Given the description of an element on the screen output the (x, y) to click on. 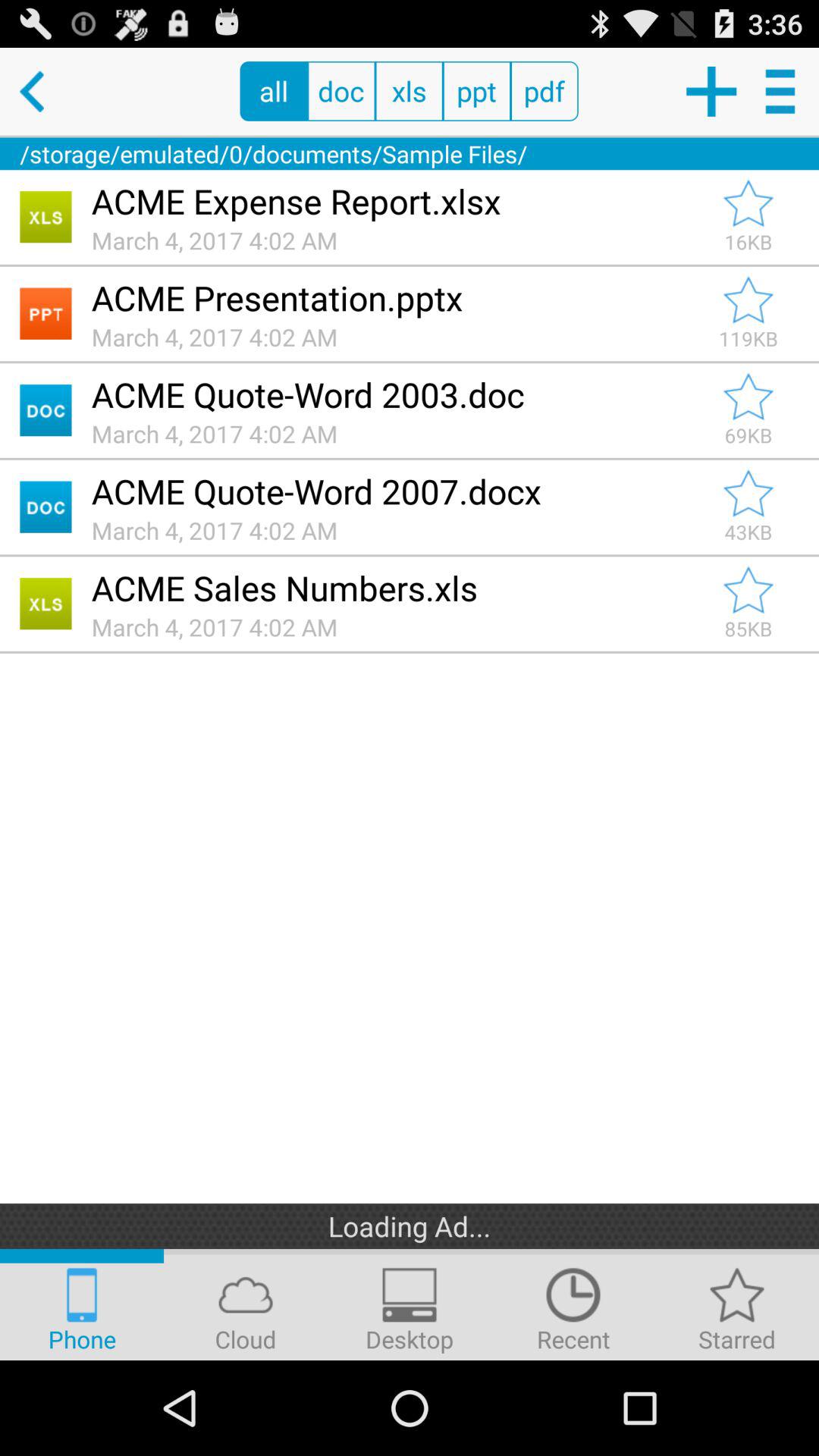
choose the ppt (476, 91)
